Given the description of an element on the screen output the (x, y) to click on. 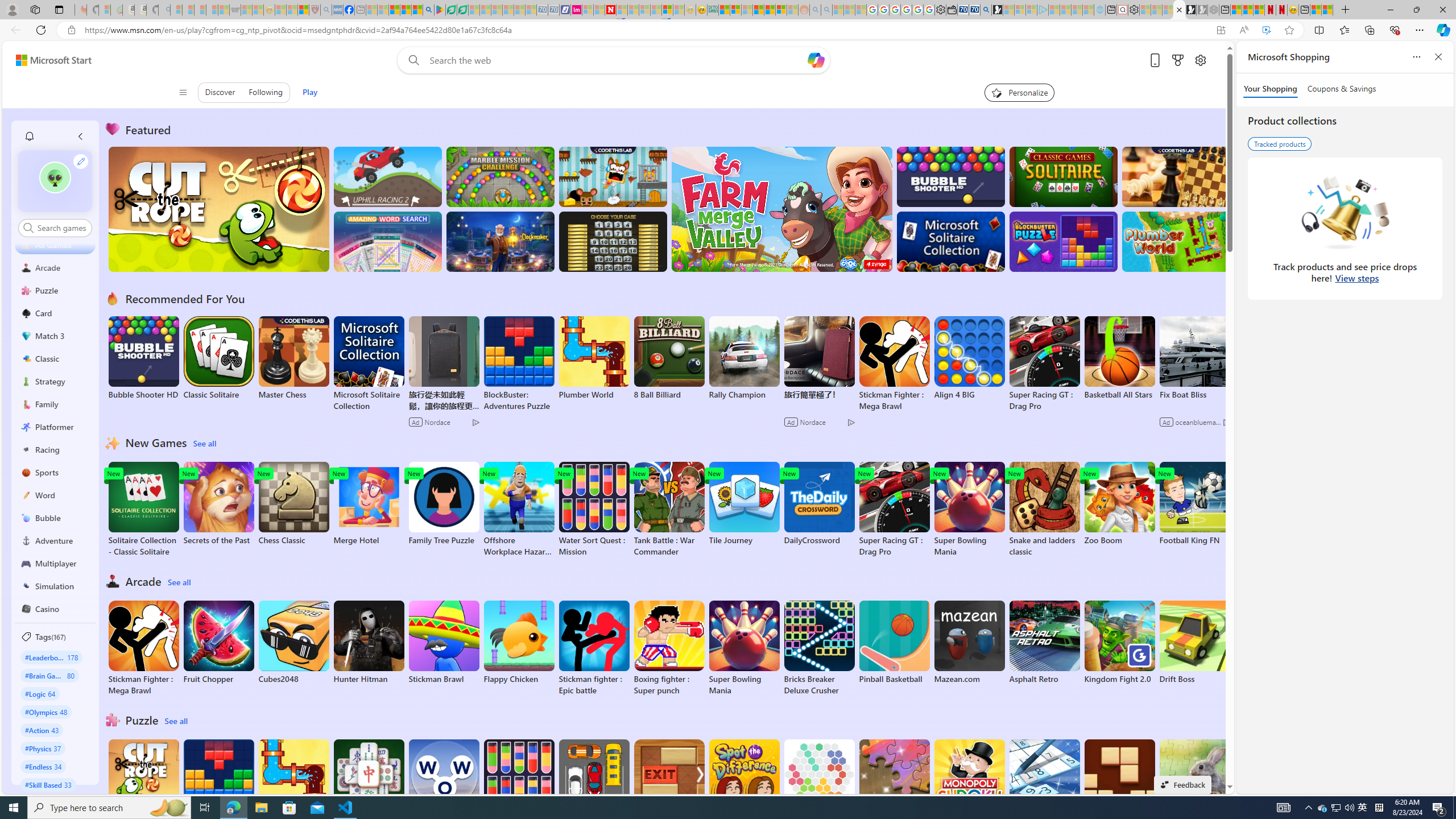
Microsoft Word - consumer-privacy address update 2.2021 (462, 9)
Merge Hotel (368, 503)
Kingdom Fight 2.0 (1119, 642)
Marble Mission : Challenge (499, 176)
